Given the description of an element on the screen output the (x, y) to click on. 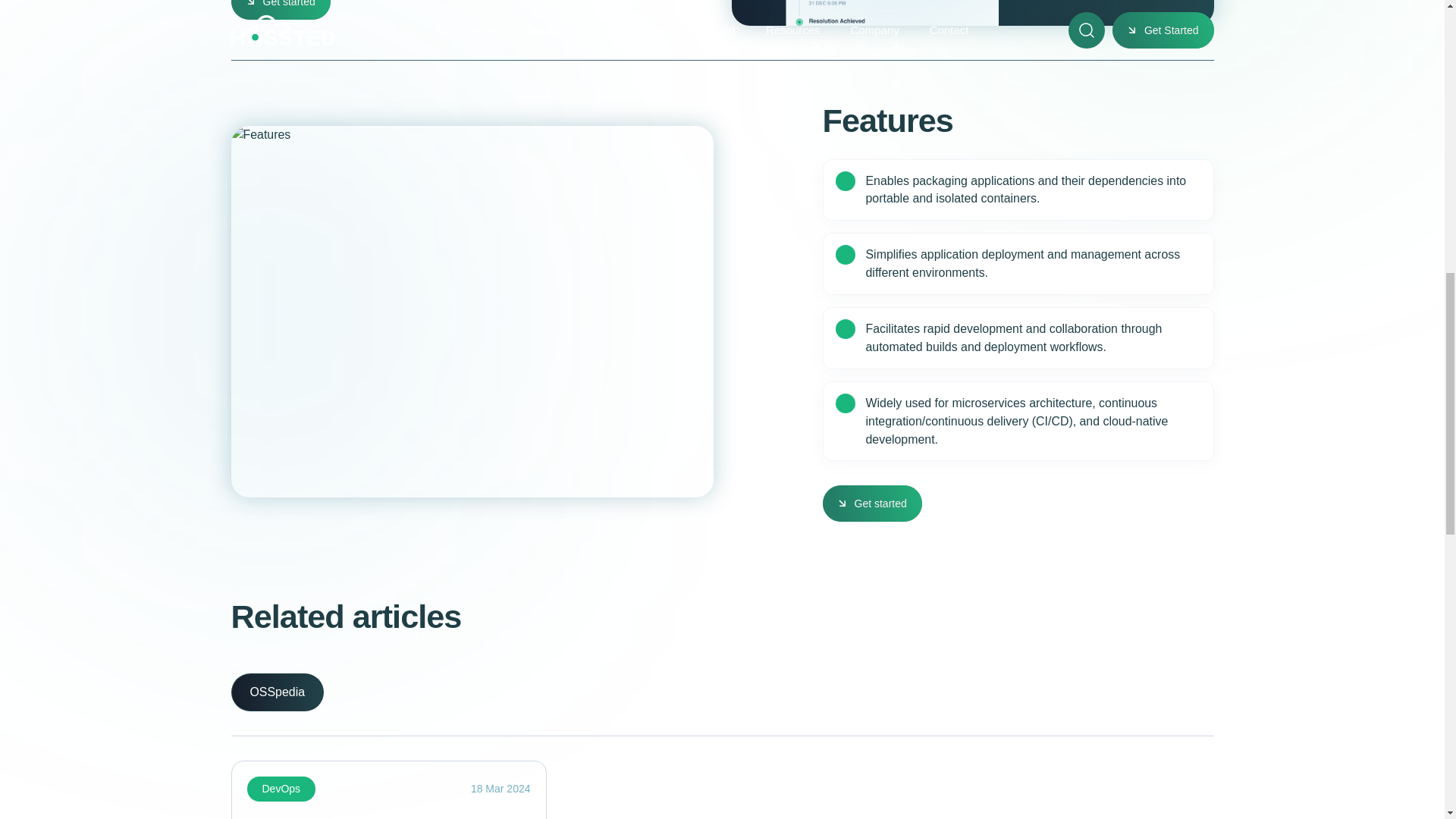
OSSpedia (276, 692)
OSSpedia (276, 692)
